Given the description of an element on the screen output the (x, y) to click on. 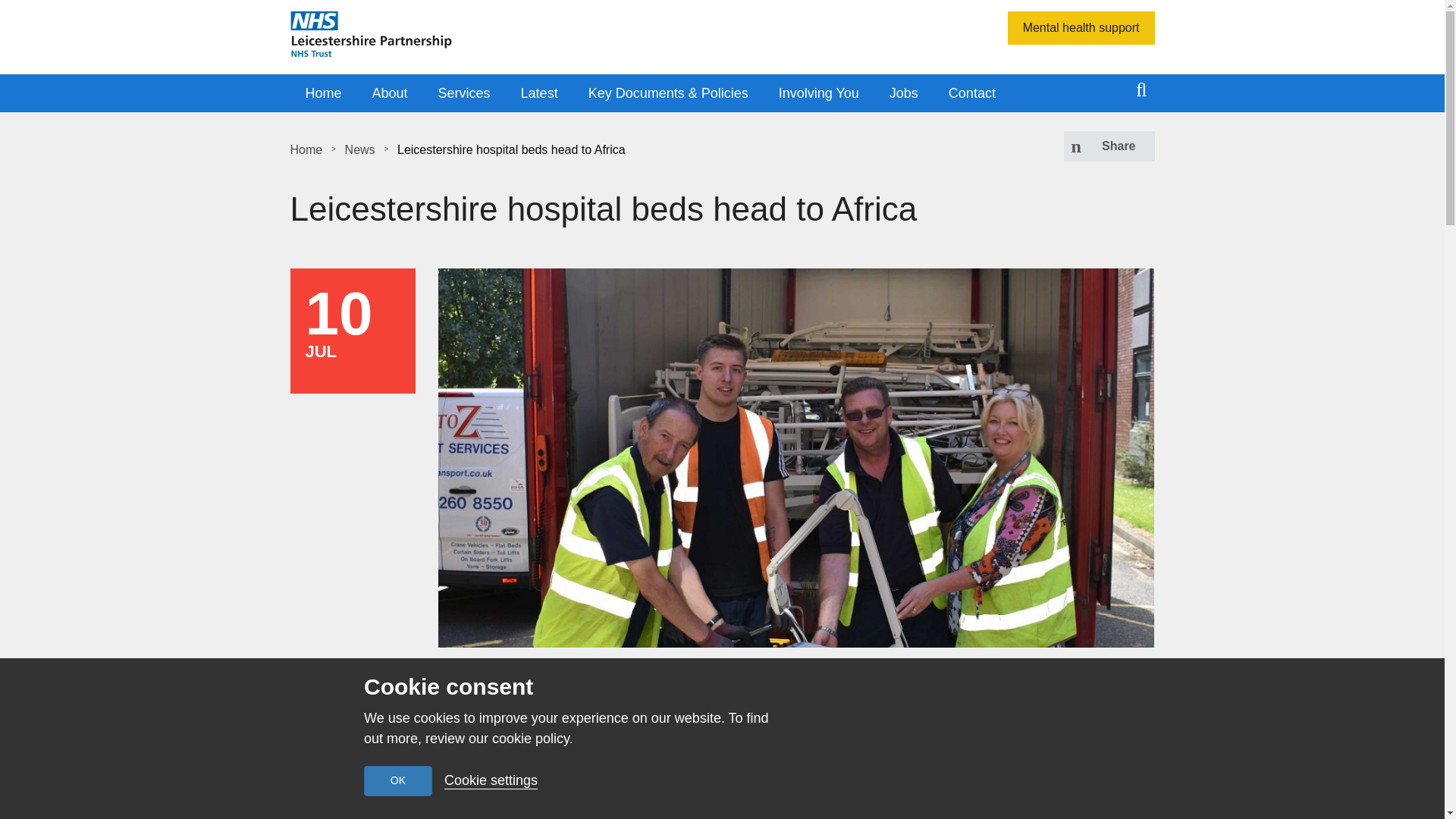
Involving You (818, 93)
Posts by Kartik Bhalla (707, 672)
Services (464, 93)
Mental health support (1080, 28)
Skip to main content (11, 7)
Latest (539, 93)
Go to Leicestershire Partnership NHS Trust. (306, 149)
About (389, 93)
Cookie settings (490, 780)
OK (398, 780)
Jobs (904, 93)
Contact (971, 93)
Home (322, 93)
